Given the description of an element on the screen output the (x, y) to click on. 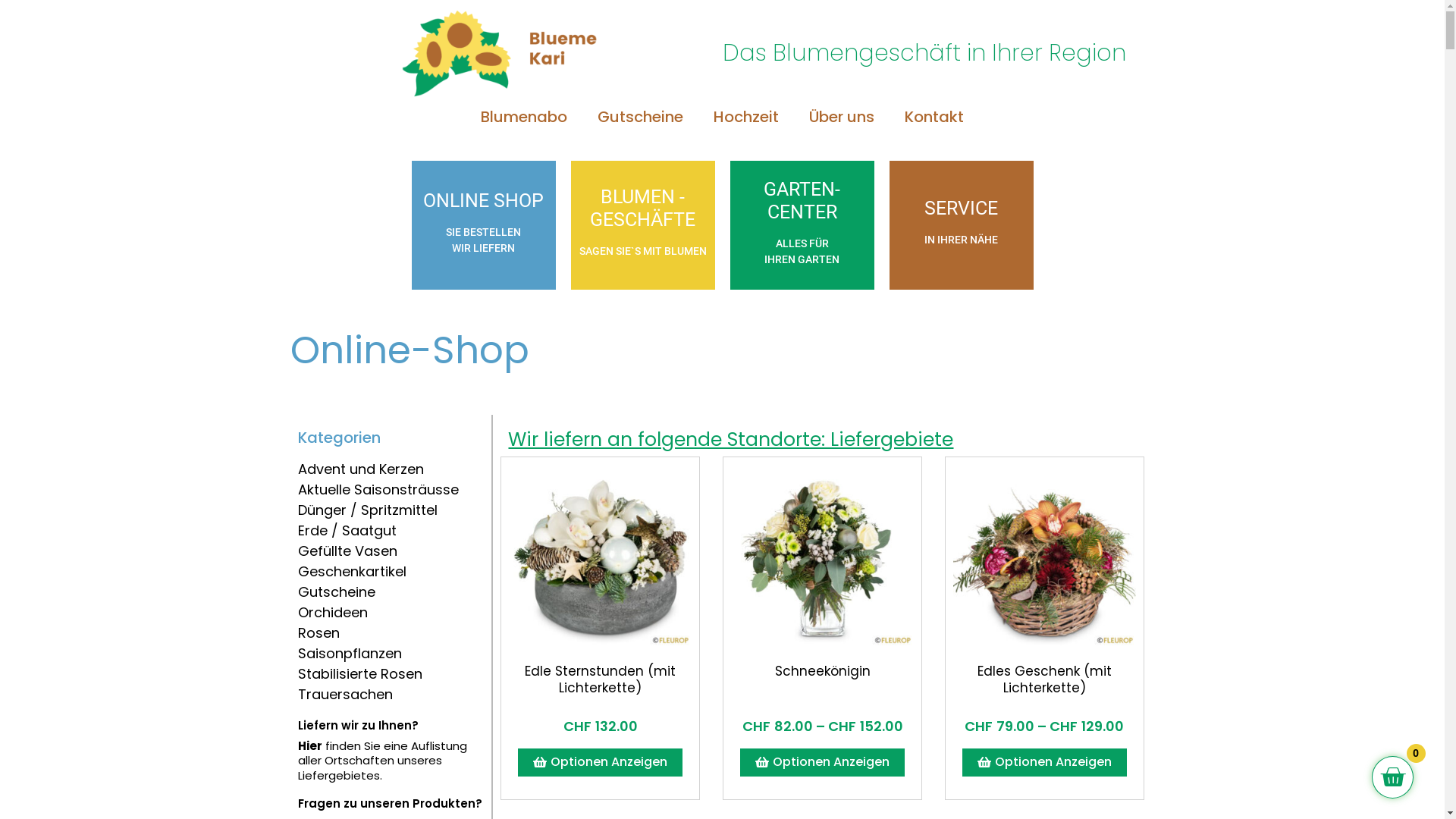
Saisonpflanzen Element type: text (349, 652)
ONLINE SHOP
SIE BESTELLEN
WIR LIEFERN Element type: text (483, 224)
Erde / Saatgut Element type: text (346, 529)
Advent und Kerzen Element type: text (360, 468)
Orchideen Element type: text (332, 611)
Hochzeit Element type: text (745, 116)
Kontakt Element type: text (934, 116)
Edle Sternstunden (mit Lichterkette) Element type: text (599, 678)
Wir liefern an folgende Standorte: Liefergebiete Element type: text (730, 439)
Gutscheine Element type: text (335, 591)
Blumenabo Element type: text (523, 116)
Optionen Anzeigen Element type: text (1044, 762)
Edles Geschenk (mit Lichterkette) Element type: text (1044, 679)
Geschenkartikel Element type: text (351, 570)
Optionen Anzeigen Element type: text (822, 762)
Trauersachen Element type: text (344, 693)
Stabilisierte Rosen Element type: text (359, 673)
Gutscheine Element type: text (640, 116)
Optionen Anzeigen Element type: text (599, 761)
Rosen Element type: text (317, 632)
